Given the description of an element on the screen output the (x, y) to click on. 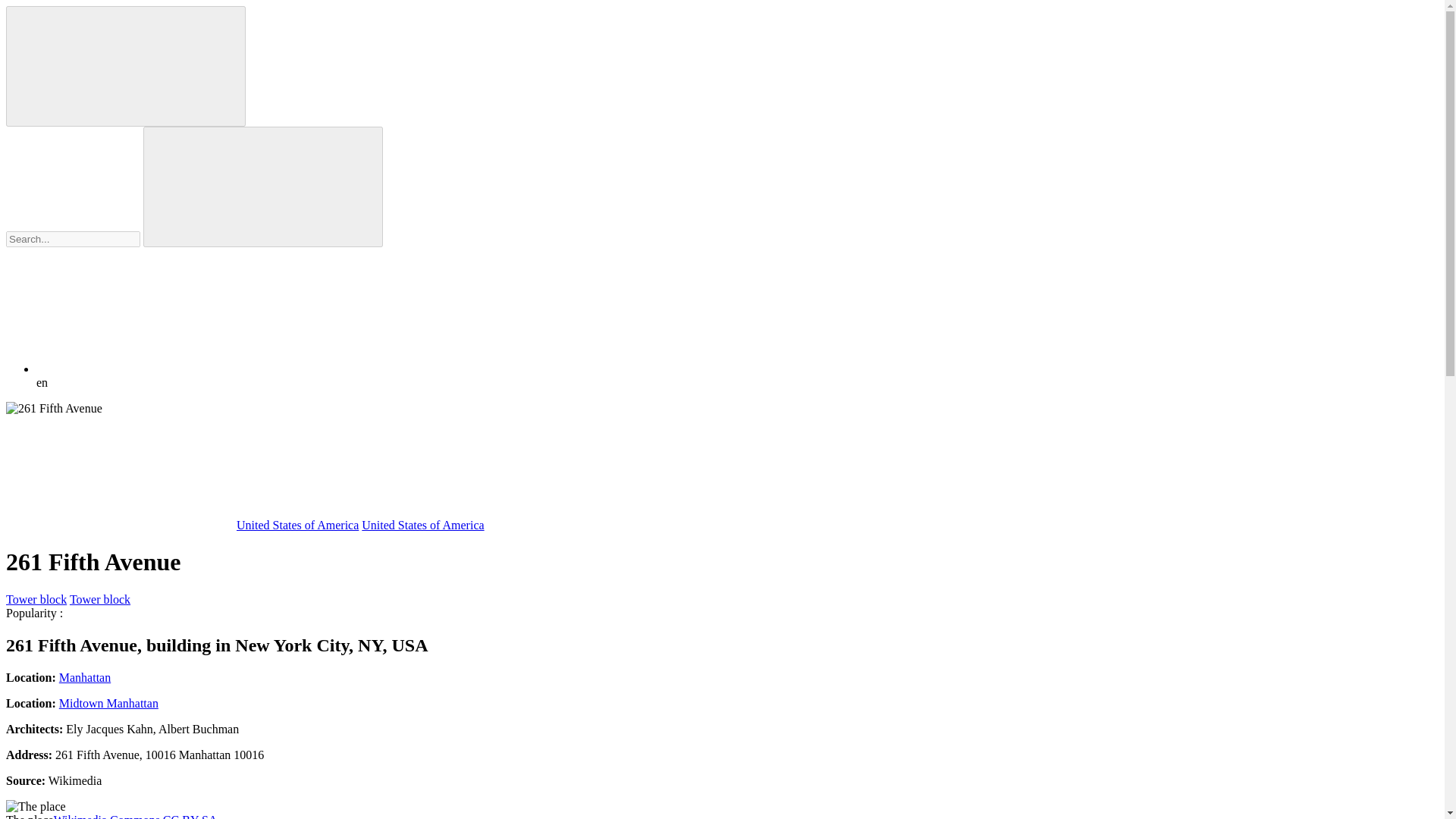
Tower block (35, 599)
United States of America (296, 524)
Tower block (100, 599)
Wikimedia Commons CC BY-SA (134, 816)
Midtown Manhattan (108, 703)
United States of America (422, 524)
Manhattan (84, 676)
